Given the description of an element on the screen output the (x, y) to click on. 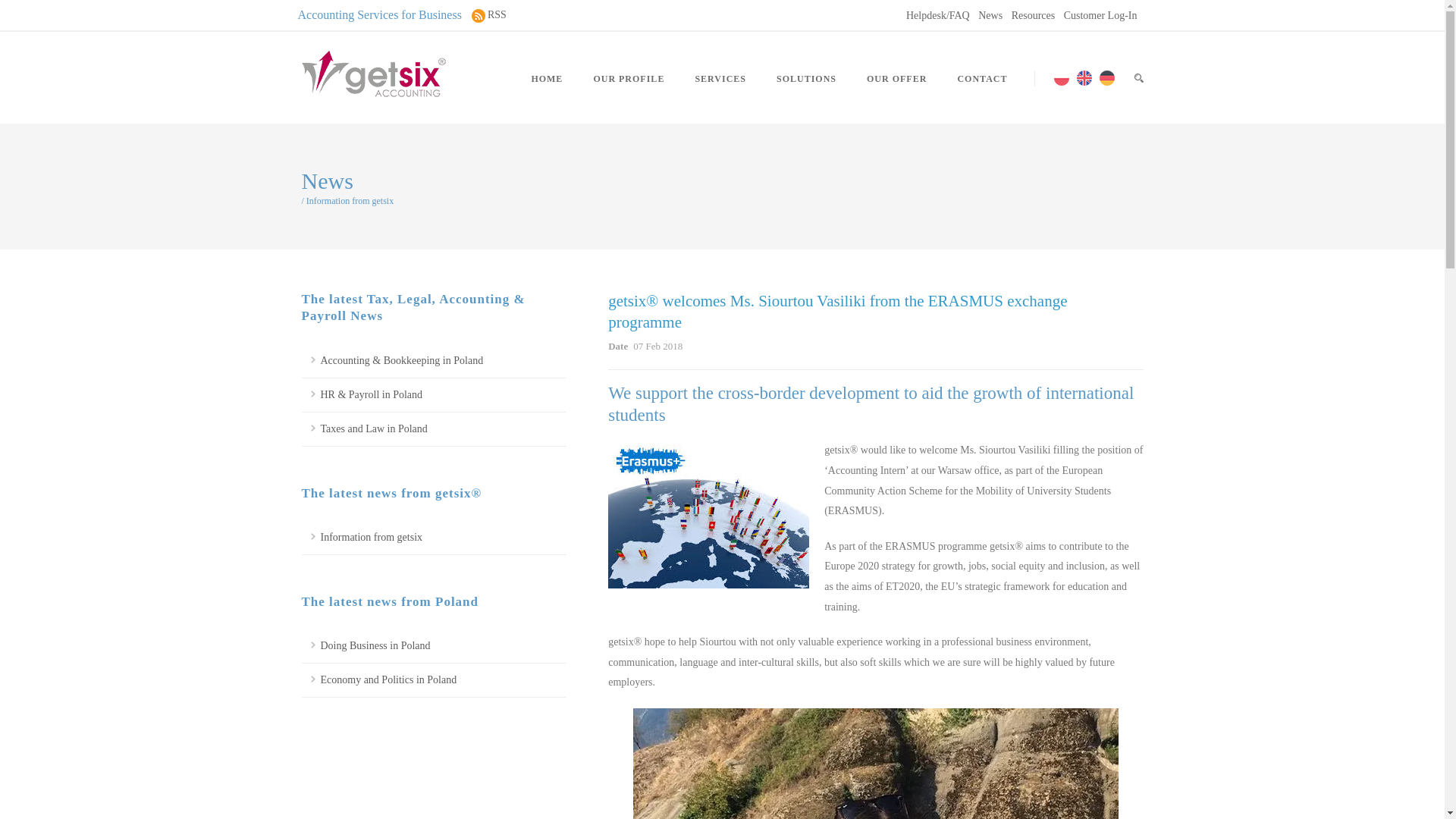
News (990, 15)
RSS (496, 14)
News (990, 15)
Customer Log-in (1100, 15)
Helpdesk (937, 15)
Resources (1033, 15)
Customer Log-In (1100, 15)
Resources (1033, 15)
RSS (496, 14)
